Given the description of an element on the screen output the (x, y) to click on. 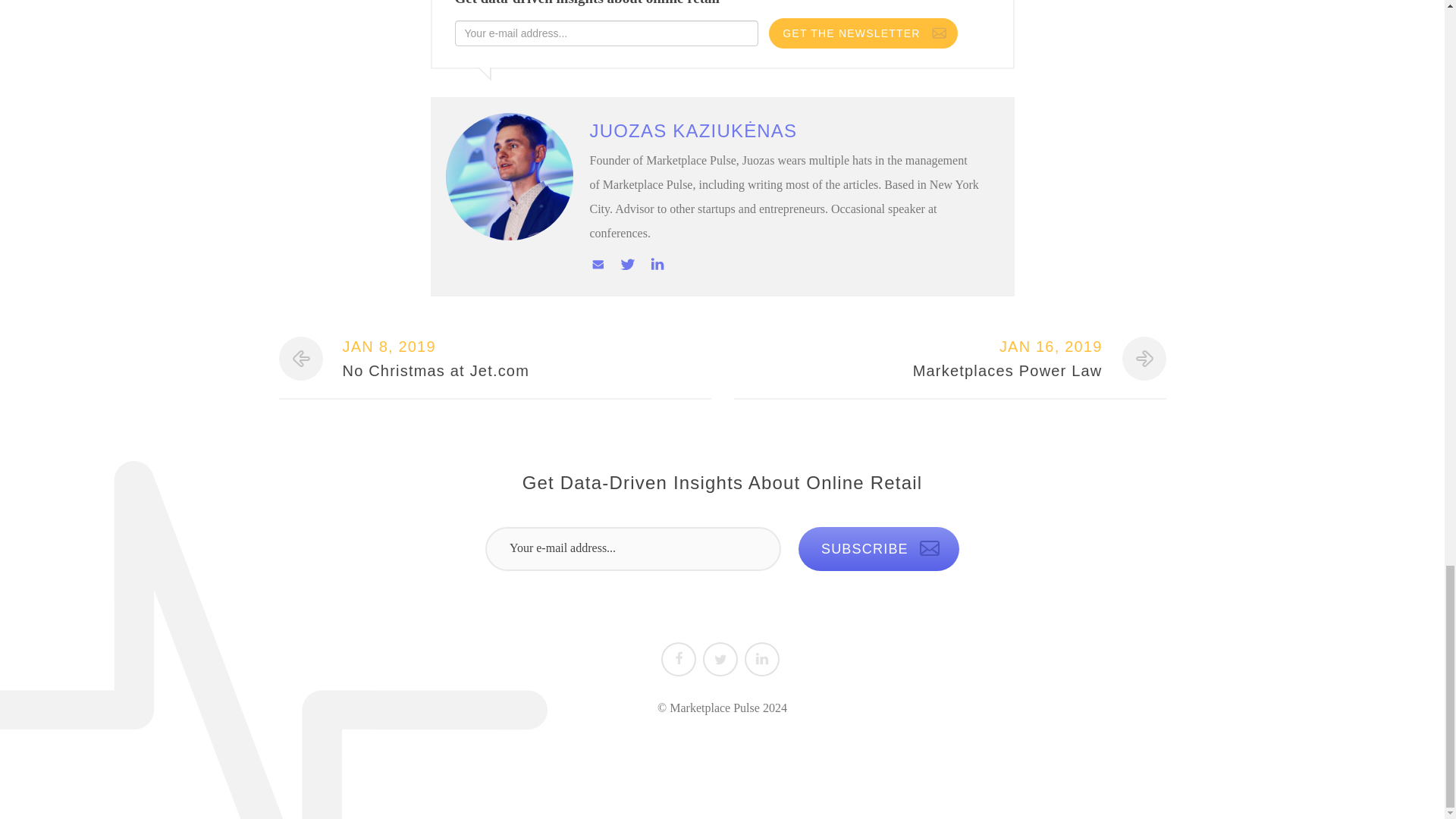
GET THE NEWSLETTER (862, 33)
SUBSCRIBE (500, 358)
